Given the description of an element on the screen output the (x, y) to click on. 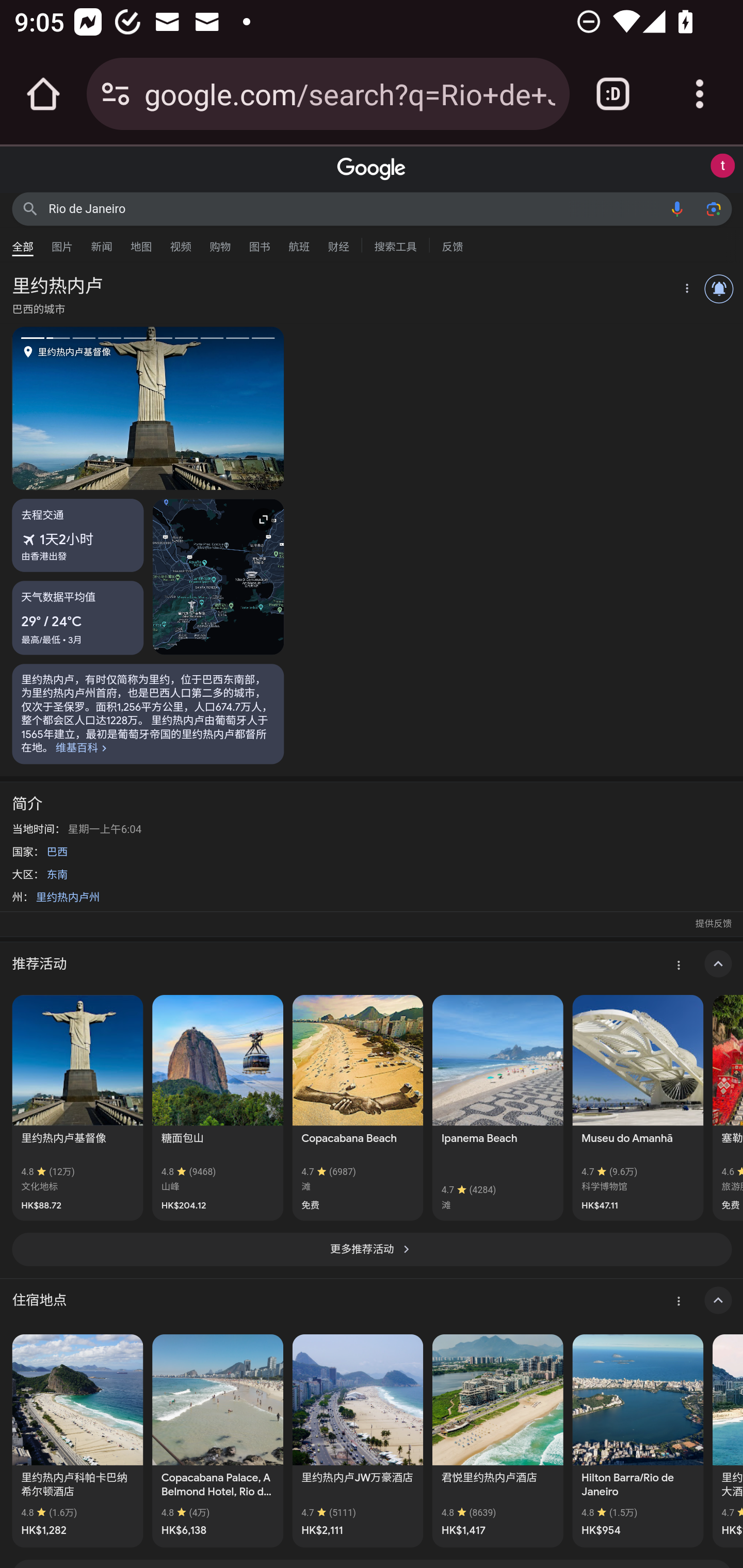
Open the home page (43, 93)
Connection is secure (115, 93)
Switch or close tabs (612, 93)
Customize and control Google Chrome (699, 93)
Google (371, 169)
Google 账号： test appium (testappium002@gmail.com) (722, 165)
Google 搜索 (29, 208)
使用拍照功能或照片进行搜索 (712, 208)
Rio de Janeiro (353, 208)
图片 (62, 241)
新闻 (101, 241)
地图 (141, 241)
视频 (180, 241)
购物 (219, 241)
图书 (259, 241)
航班 (299, 241)
财经 (338, 241)
搜索工具 (395, 244)
反馈 (452, 244)
停止接收关于“里约热内卢”的通知 (718, 288)
更多选项 (685, 289)
去程交通 1天2小时 乘坐飞机 由香港出發 (77, 535)
展开地图 (217, 576)
天气数据平均值 29° / 24°C 最高/最低 • 3月 (77, 617)
%E9%87%8C%E7%BA%A6%E7%83%AD%E5%86%85%E5%8D%A2 (147, 713)
巴西 (57, 850)
东南 (57, 874)
里约热内卢州 (67, 896)
提供反馈 (713, 923)
推荐活动 … 里約熱內盧的推荐活动 (371, 964)
里约热内卢基督像 评分为 4.8 星（最高 5 星）， (12万) 文化地标 HK$88.72 (77, 1107)
糖面包山 评分为 4.8 星（最高 5 星）， (9468) 山峰 HK$204.12 (217, 1107)
Copacabana Beach 评分为 4.7 星（最高 5 星）， (6987) 滩 免费 (357, 1107)
Ipanema Beach 评分为 4.7 星（最高 5 星）， (4284) 滩 (497, 1107)
更多推荐活动 (371, 1249)
住宿地点 … 里約熱內盧的酒店 (371, 1300)
里约热内卢JW万豪酒店 4.7 评分为 4.7 星（最高 5 星）， (5111) HK$2,111 (357, 1439)
君悦里约热内卢酒店 4.8 评分为 4.8 星（最高 5 星）， (8639) HK$1,417 (497, 1439)
